Given the description of an element on the screen output the (x, y) to click on. 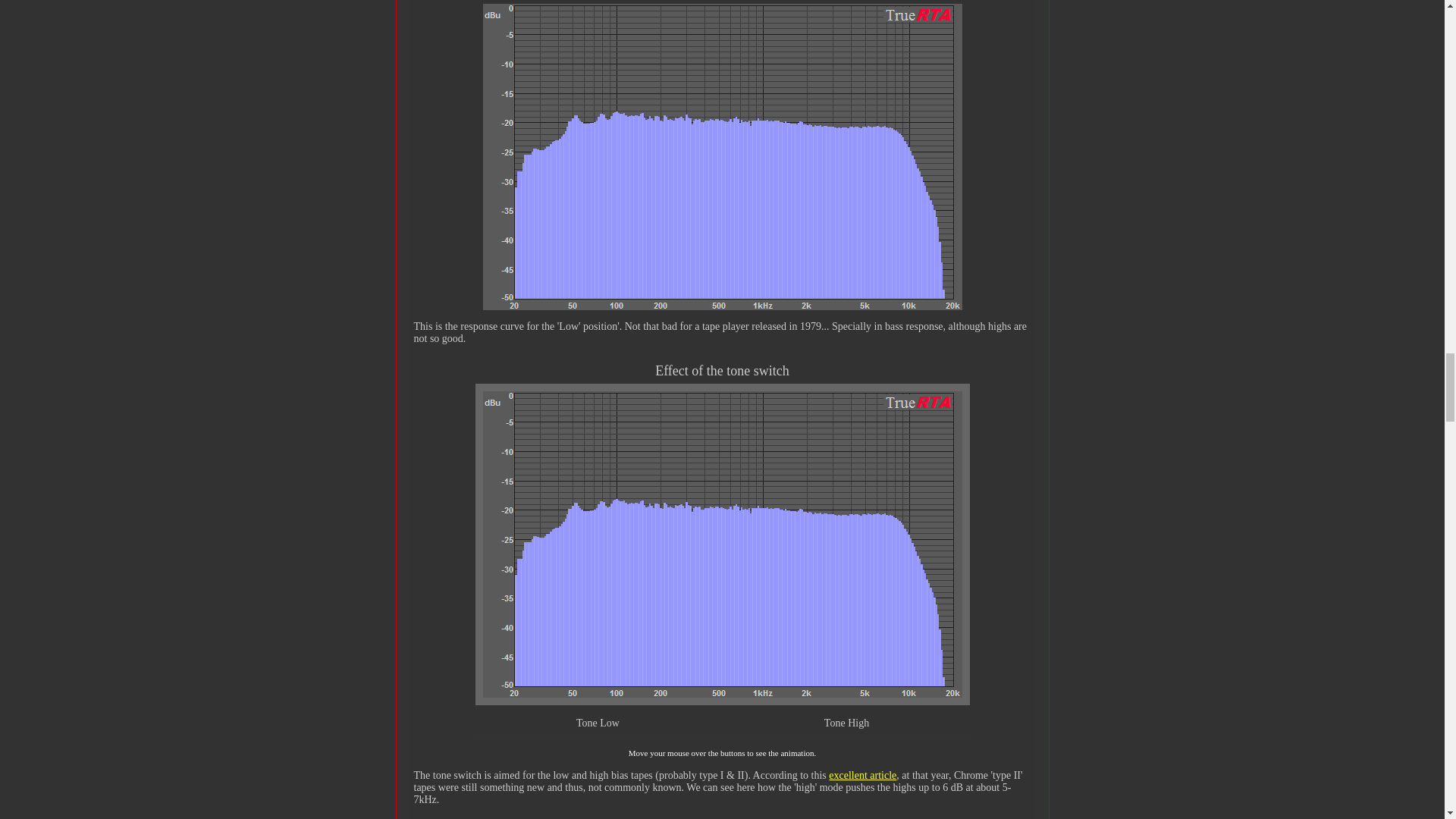
excellent article (862, 775)
